Given the description of an element on the screen output the (x, y) to click on. 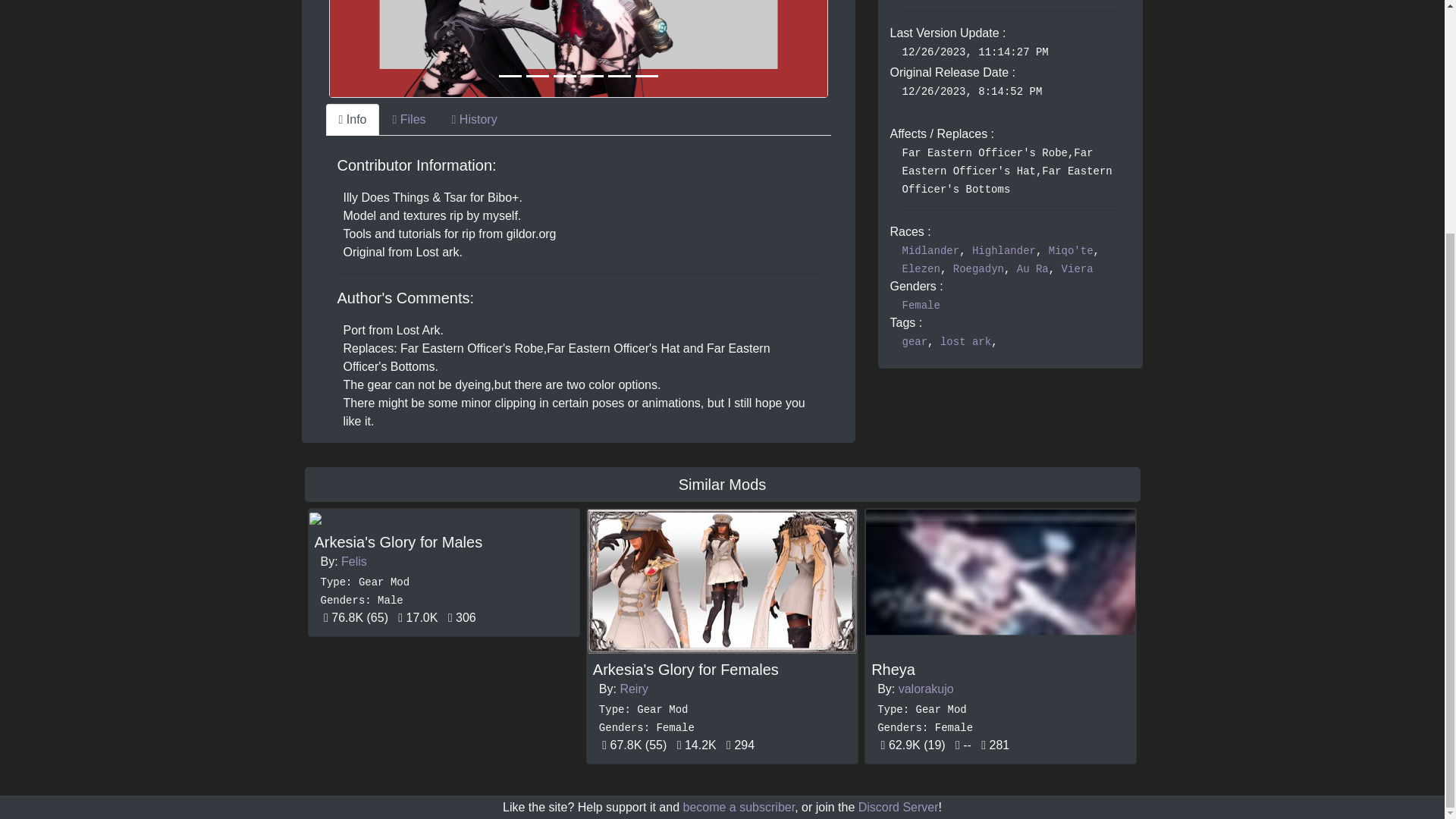
Au Ra (1032, 268)
Miqo'te (1070, 250)
Files (408, 119)
Info (353, 119)
gear (915, 341)
History (475, 119)
Midlander (930, 250)
Elezen (921, 268)
Highlander (1003, 250)
Viera (1077, 268)
lost ark (965, 341)
Roegadyn (978, 268)
Female (921, 305)
